Given the description of an element on the screen output the (x, y) to click on. 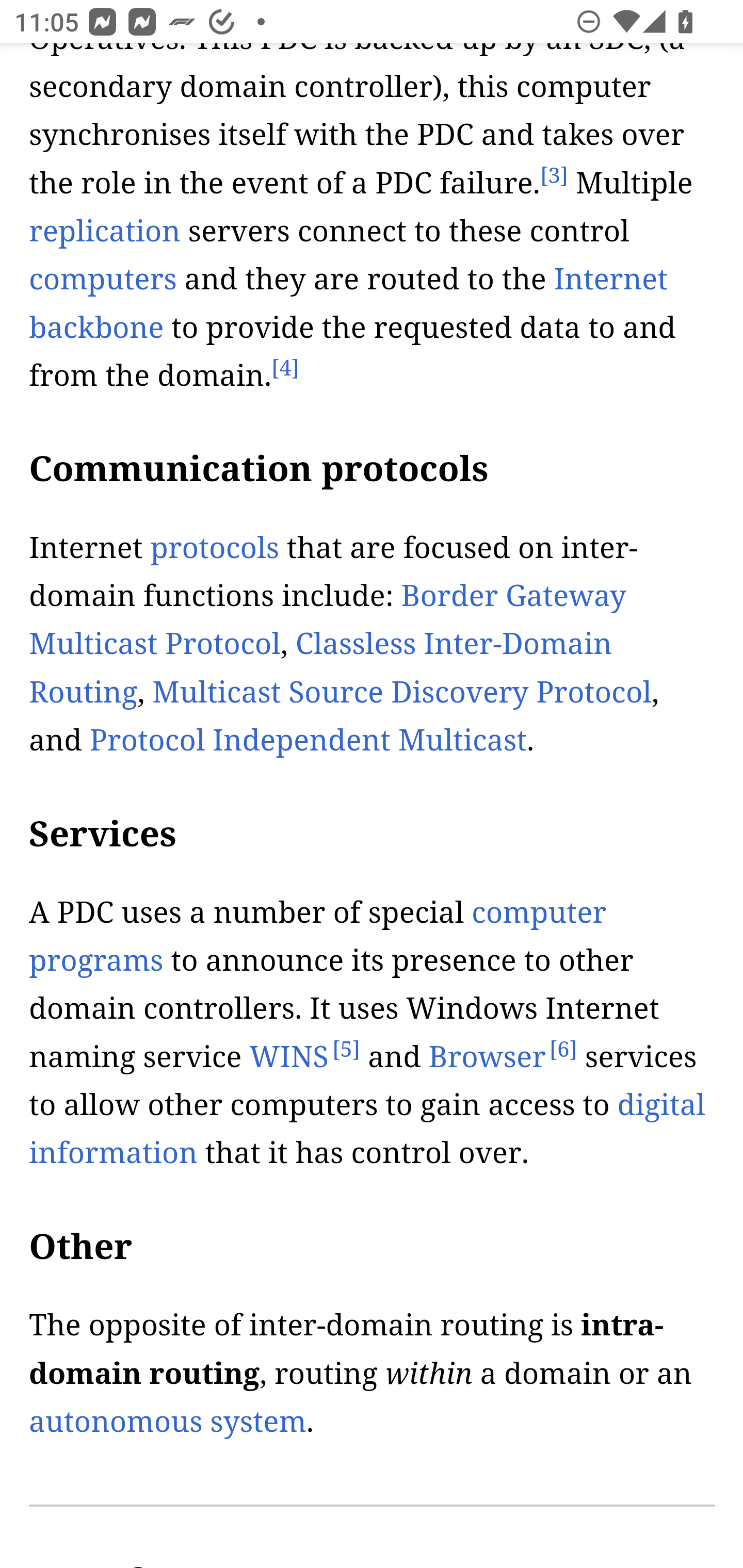
[] [ 3 ] (552, 176)
replication (105, 231)
computers (103, 279)
Internet backbone (348, 303)
[] [ 4 ] (285, 368)
protocols (214, 548)
Border Gateway Multicast Protocol (327, 619)
Classless Inter-Domain Routing (320, 668)
Multicast Source Discovery Protocol (402, 693)
Protocol Independent Multicast (307, 740)
computer programs (317, 937)
[] [ 5 ] (346, 1049)
[] [ 6 ] (563, 1049)
WINS (288, 1057)
Browser (486, 1057)
digital information (366, 1128)
autonomous system (167, 1422)
